Given the description of an element on the screen output the (x, y) to click on. 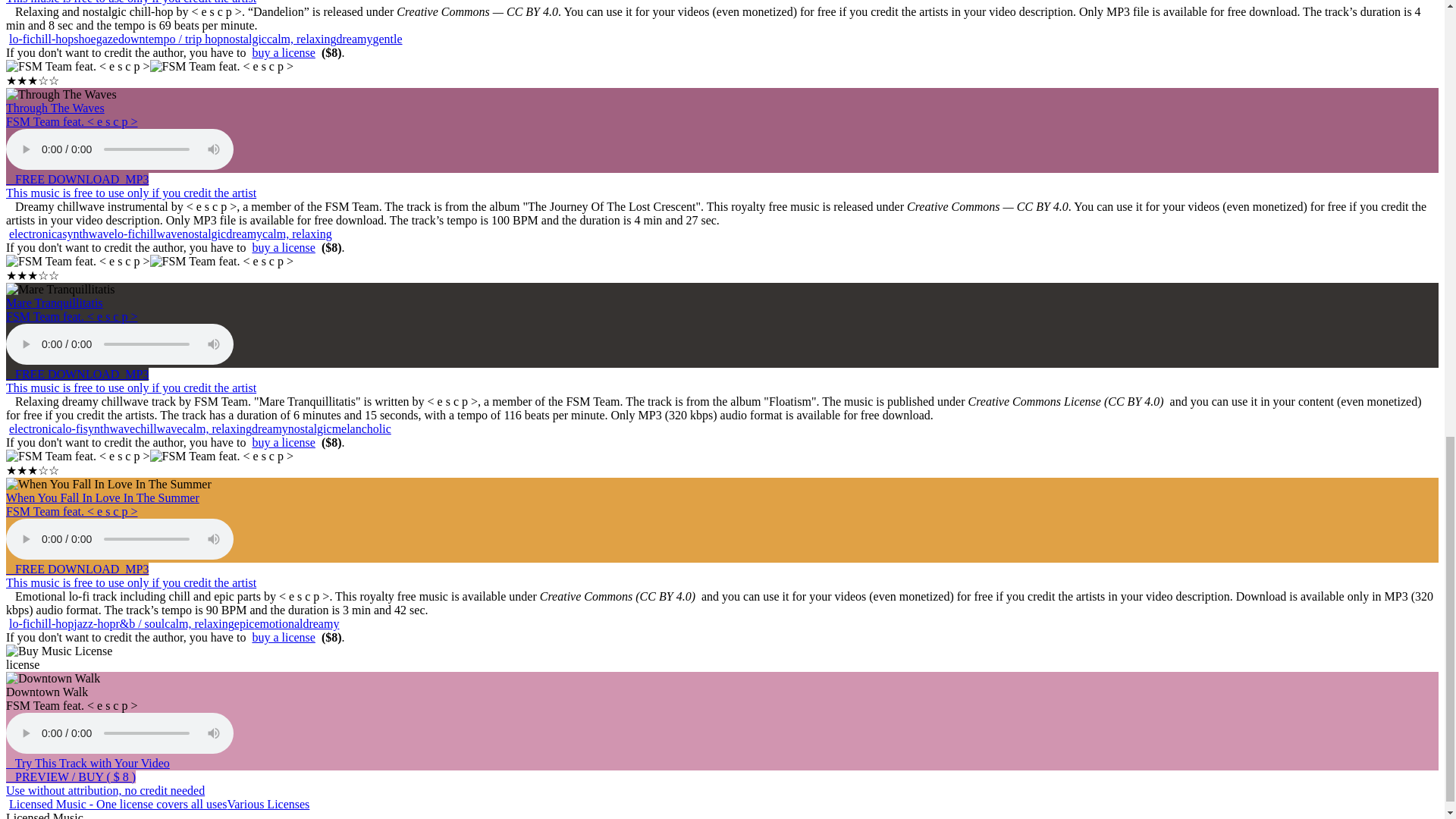
lo-fi (19, 38)
shoegaze (95, 38)
chill-hop (52, 38)
nostalgic (244, 38)
